Given the description of an element on the screen output the (x, y) to click on. 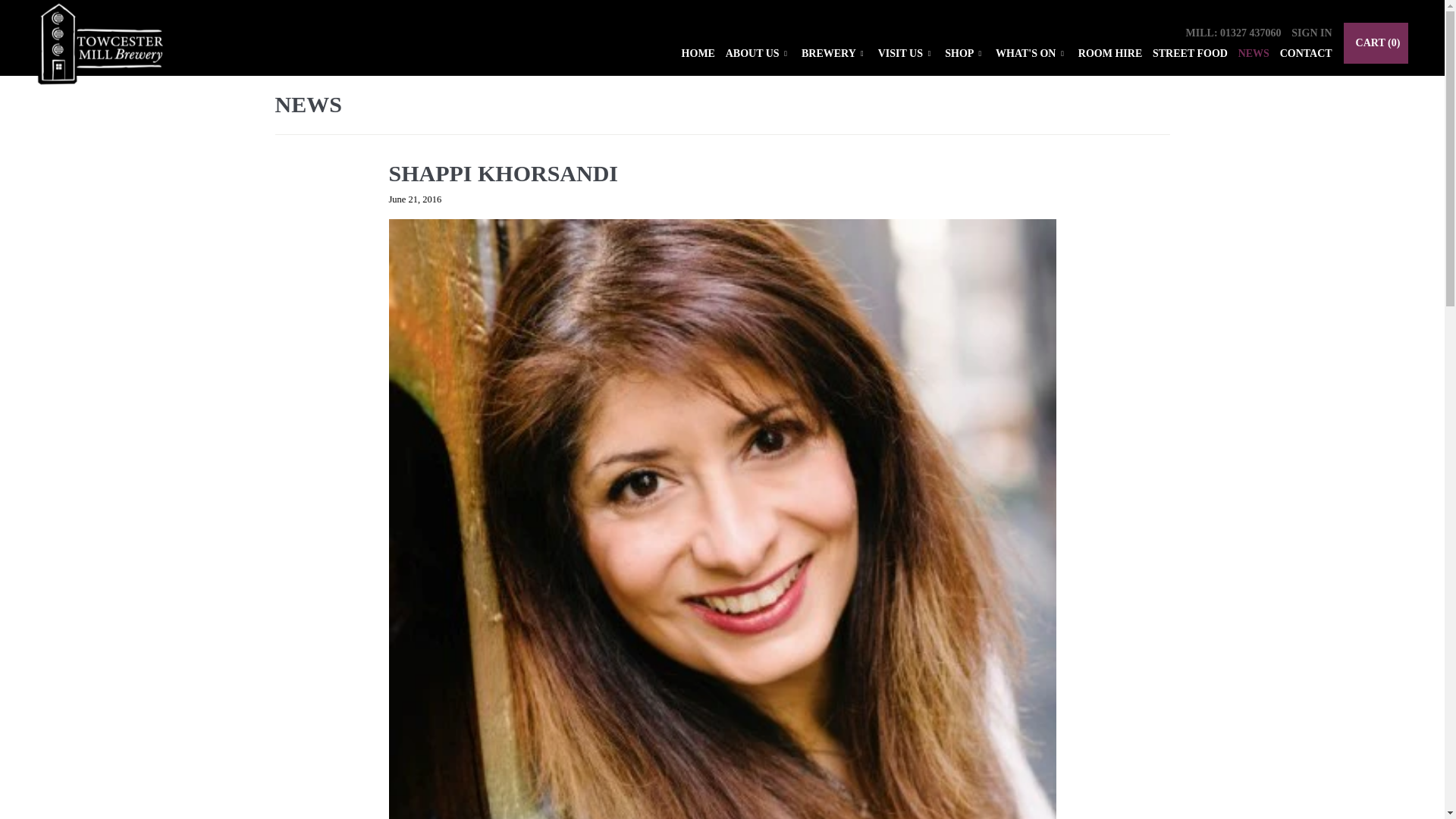
News (307, 104)
NEWS (1254, 53)
Cart (1376, 42)
BREWERY (834, 54)
WHAT'S ON (1031, 54)
STREET FOOD (1190, 53)
Towcester Mill Brewery Shop (104, 51)
HOME (697, 53)
ABOUT US (758, 54)
CONTACT (1305, 53)
